Given the description of an element on the screen output the (x, y) to click on. 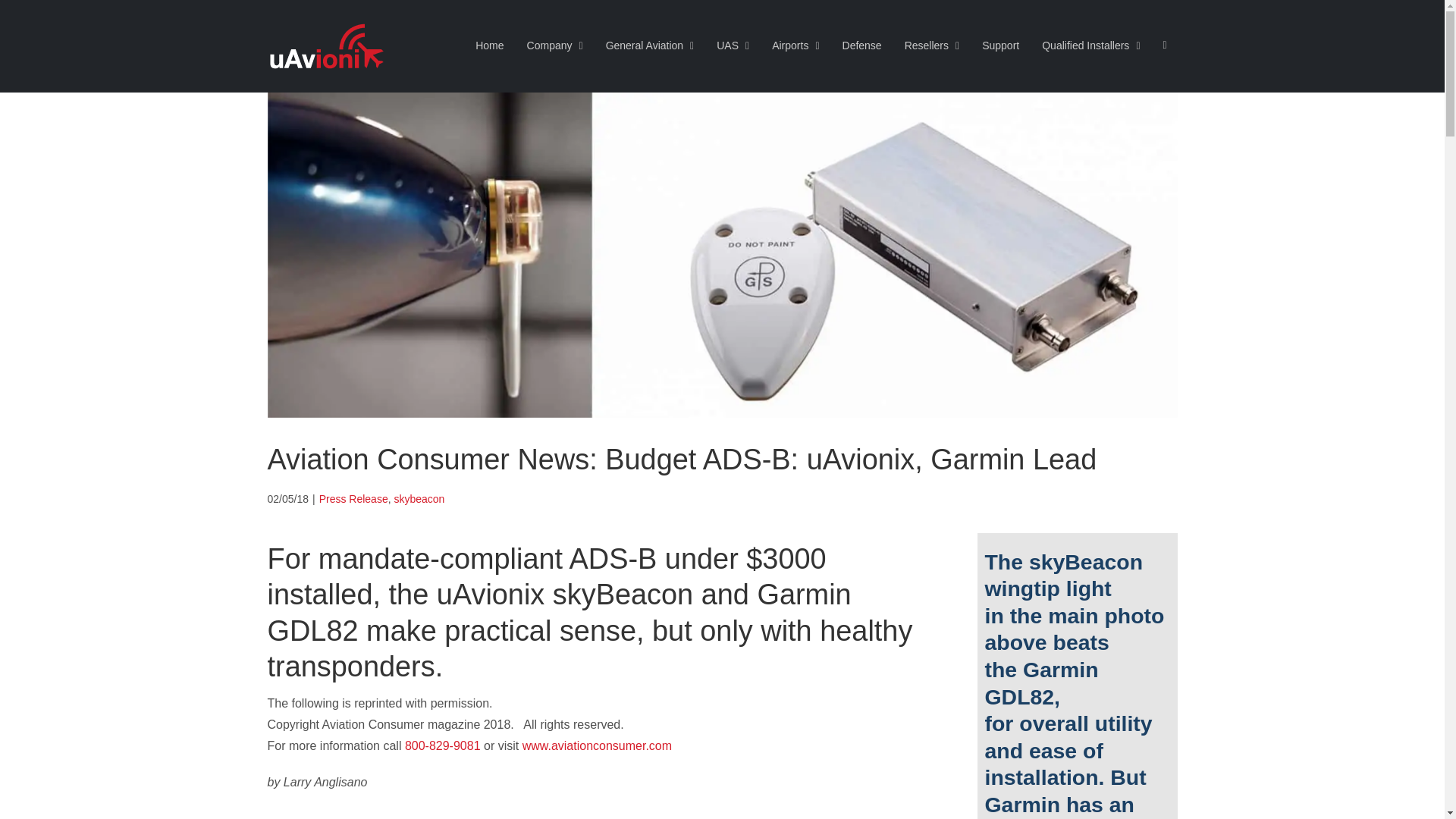
UAS (732, 44)
General Aviation (649, 44)
Company (555, 44)
Home (489, 44)
